Given the description of an element on the screen output the (x, y) to click on. 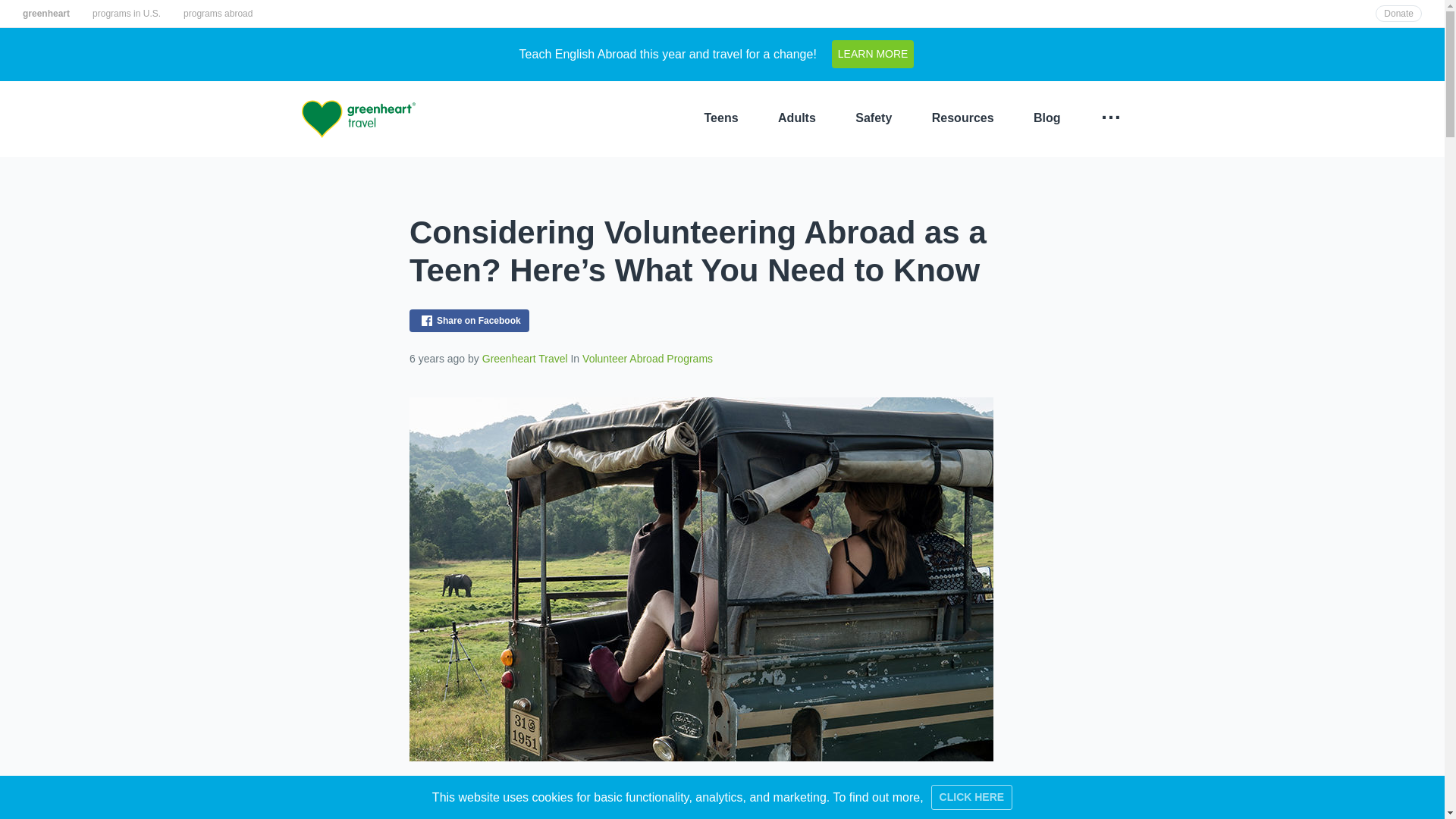
programs in U.S. (126, 13)
Resources (962, 119)
programs abroad (217, 13)
Share on Facebook (469, 320)
Adults (797, 119)
greenheart (46, 13)
LEARN MORE (872, 53)
programs abroad (217, 13)
CLICK HERE (972, 796)
Greenheart Travel (357, 118)
greenheart (46, 13)
Donate (1398, 13)
Donate (1398, 13)
Safety (873, 119)
programs in U.S. (126, 13)
